Given the description of an element on the screen output the (x, y) to click on. 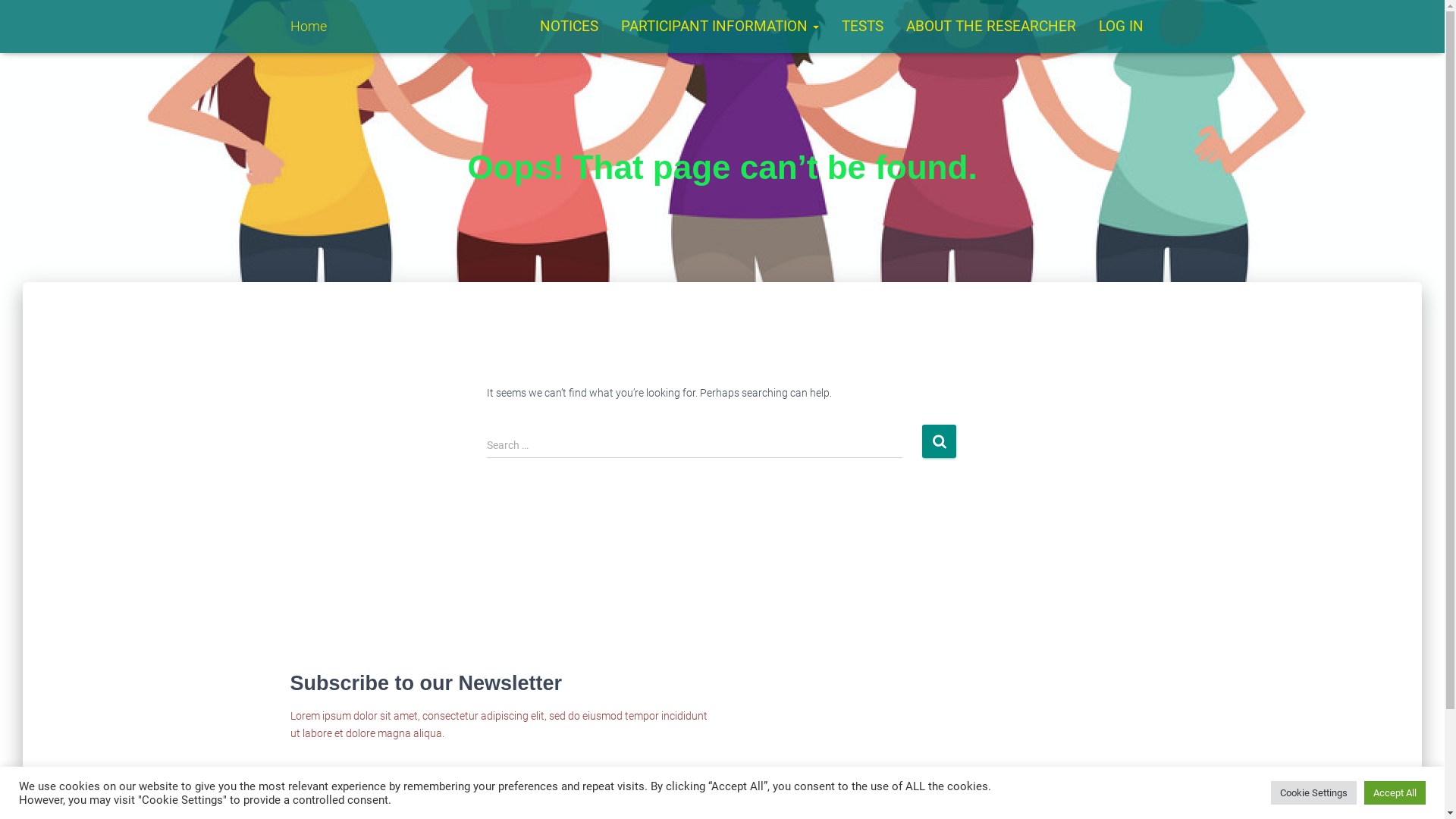
PARTICIPANT INFORMATION Element type: text (719, 26)
Cookie Settings Element type: text (1313, 792)
ABOUT THE RESEARCHER Element type: text (990, 26)
Search Element type: text (939, 440)
LOG IN Element type: text (1120, 26)
Accept All Element type: text (1394, 792)
Home Element type: text (308, 26)
TESTS Element type: text (861, 26)
NOTICES Element type: text (567, 26)
